Given the description of an element on the screen output the (x, y) to click on. 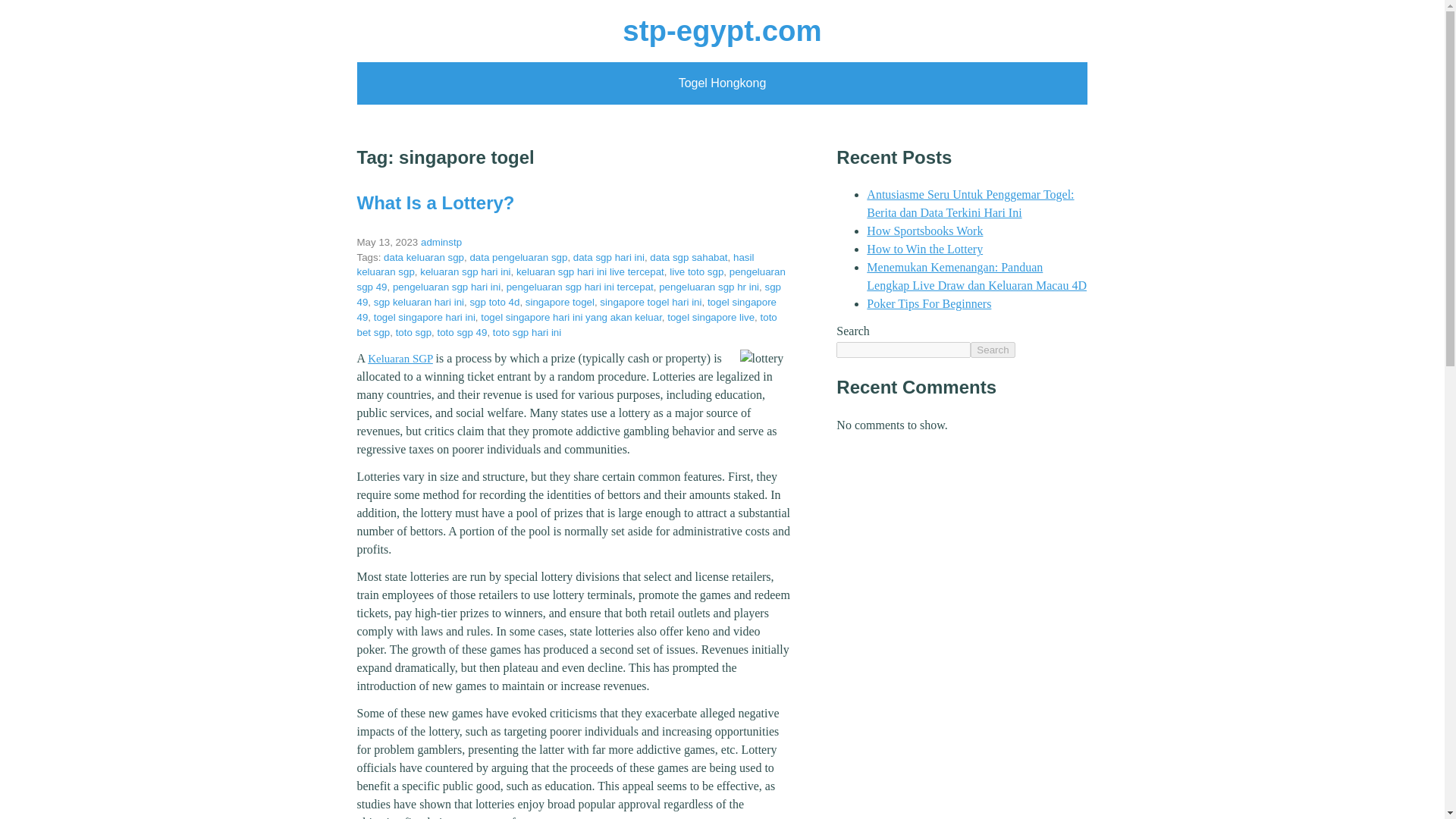
hasil keluaran sgp (555, 264)
How to Win the Lottery (924, 248)
sgp toto 4d (493, 301)
Keluaran SGP (400, 358)
keluaran sgp hari ini live tercepat (589, 271)
toto sgp (413, 332)
singapore togel (559, 301)
data sgp hari ini (609, 256)
toto sgp hari ini (526, 332)
toto sgp 49 (461, 332)
